Given the description of an element on the screen output the (x, y) to click on. 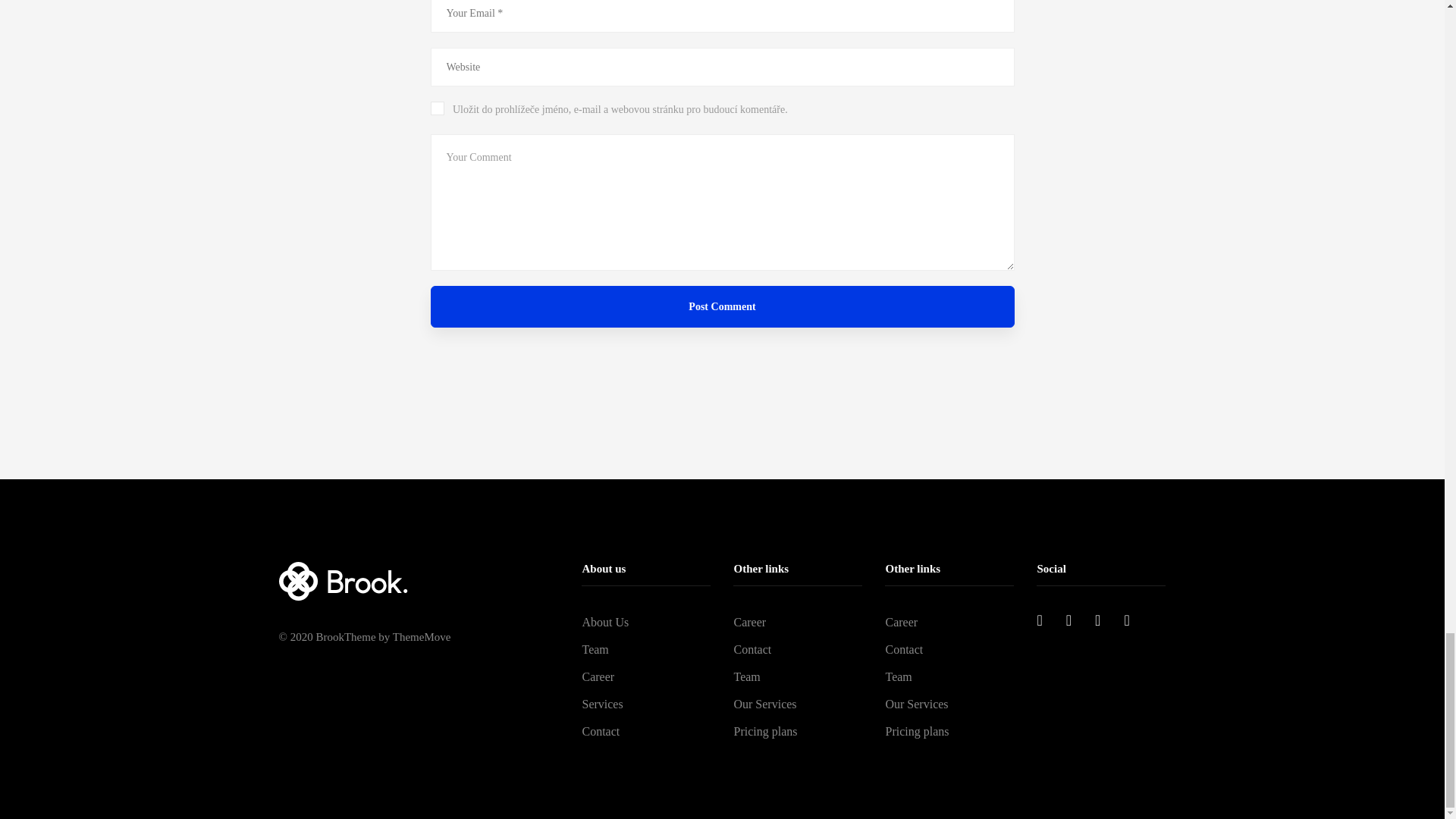
Career (949, 622)
Team (797, 677)
Team (645, 649)
Career (645, 677)
Contact (645, 731)
Our Services (797, 704)
Post Comment (722, 306)
yes (437, 108)
Pricing plans (797, 731)
Contact (797, 649)
Team (949, 677)
About Us (645, 622)
Career (797, 622)
Post Comment (722, 306)
Services (645, 704)
